Given the description of an element on the screen output the (x, y) to click on. 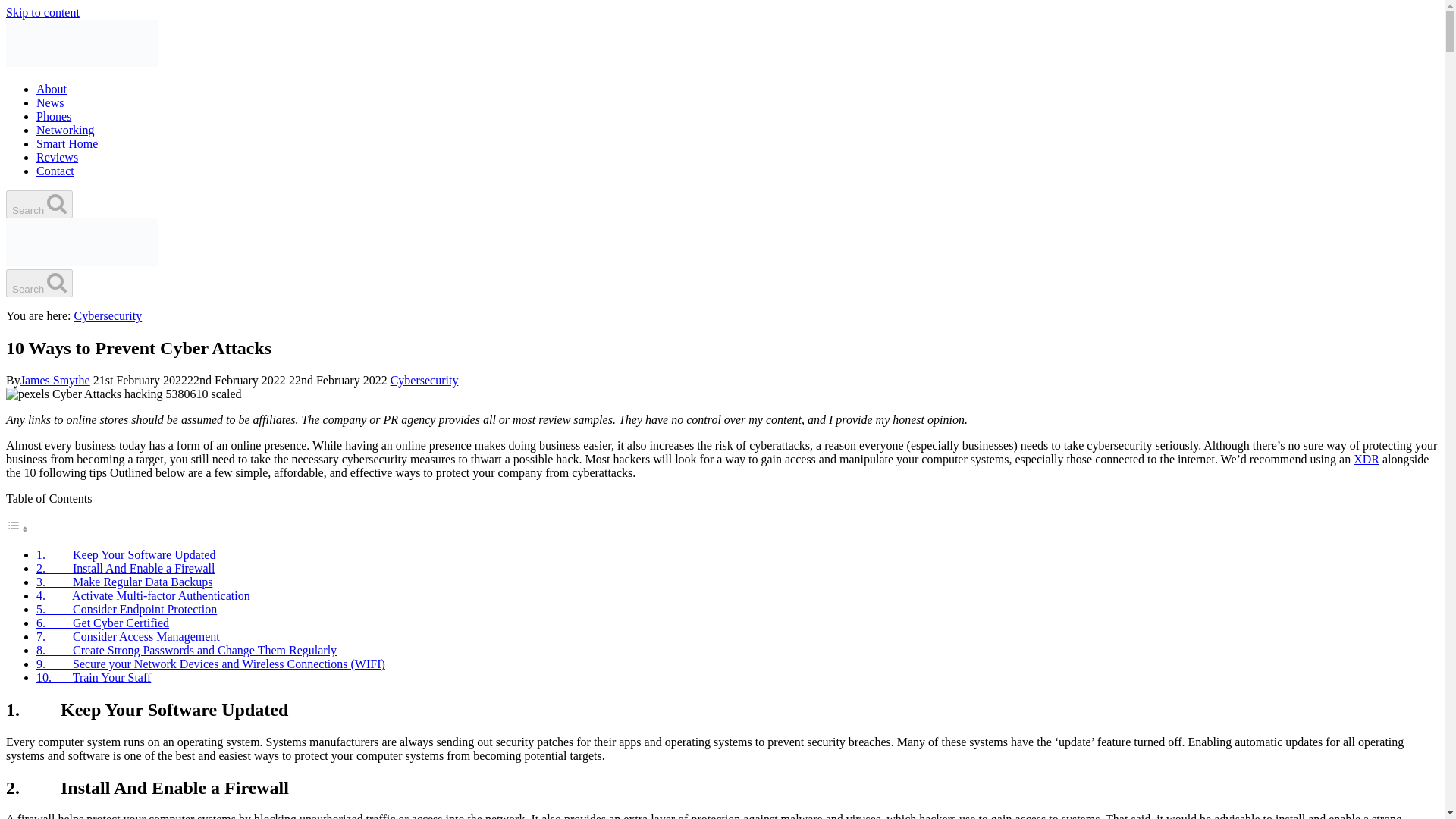
Skip to content (42, 11)
About (51, 88)
2.         Install And Enable a Firewall (125, 567)
Smart Home (66, 143)
James Smythe (55, 379)
Reviews (57, 156)
7.         Consider Access Management (127, 635)
Search Search (38, 204)
Networking (65, 129)
4.         Activate Multi-factor Authentication (143, 594)
